Given the description of an element on the screen output the (x, y) to click on. 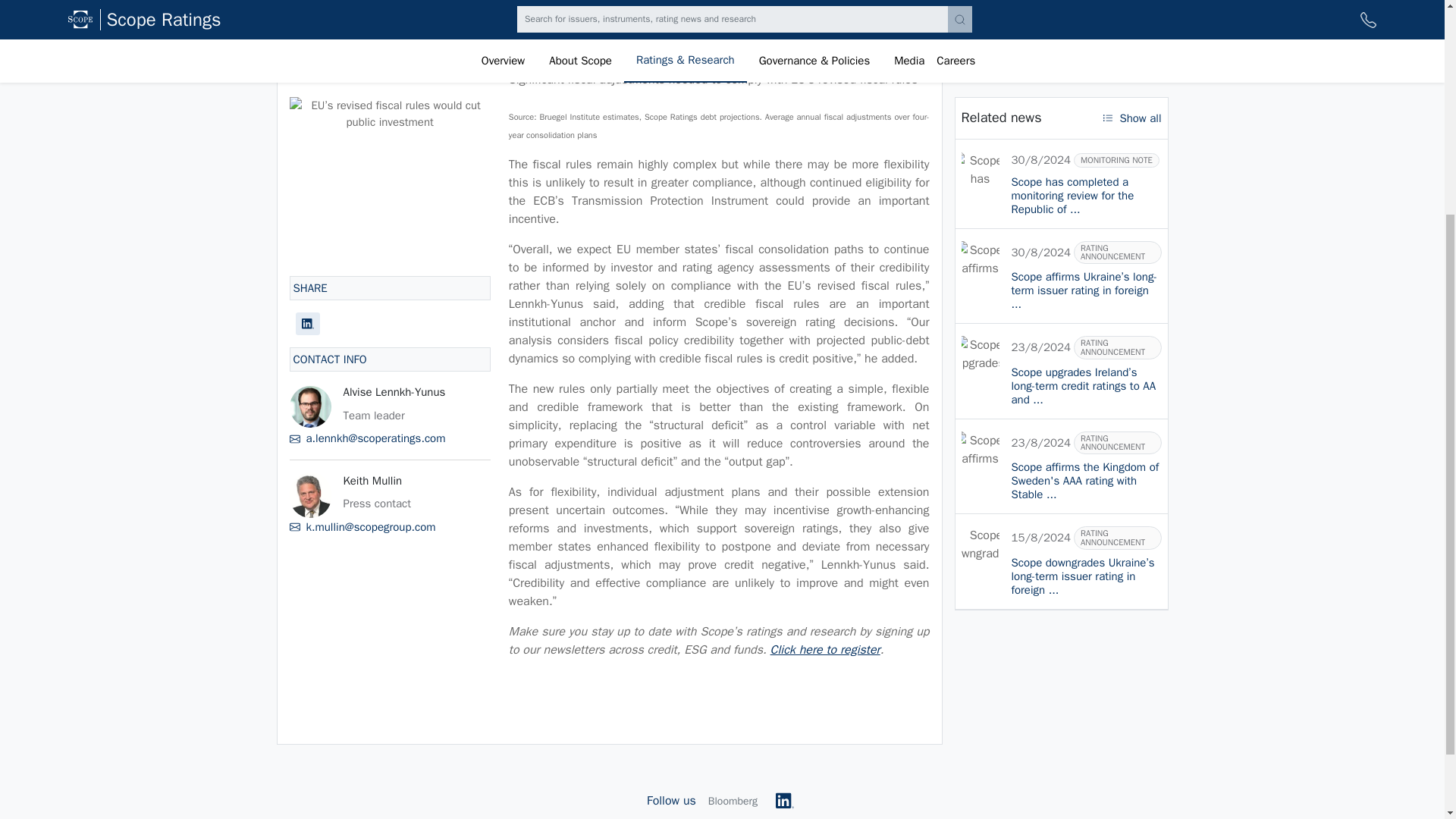
Click here to register (825, 649)
Send Email to Team Leader (389, 159)
Send Email to Press contact (389, 248)
